Given the description of an element on the screen output the (x, y) to click on. 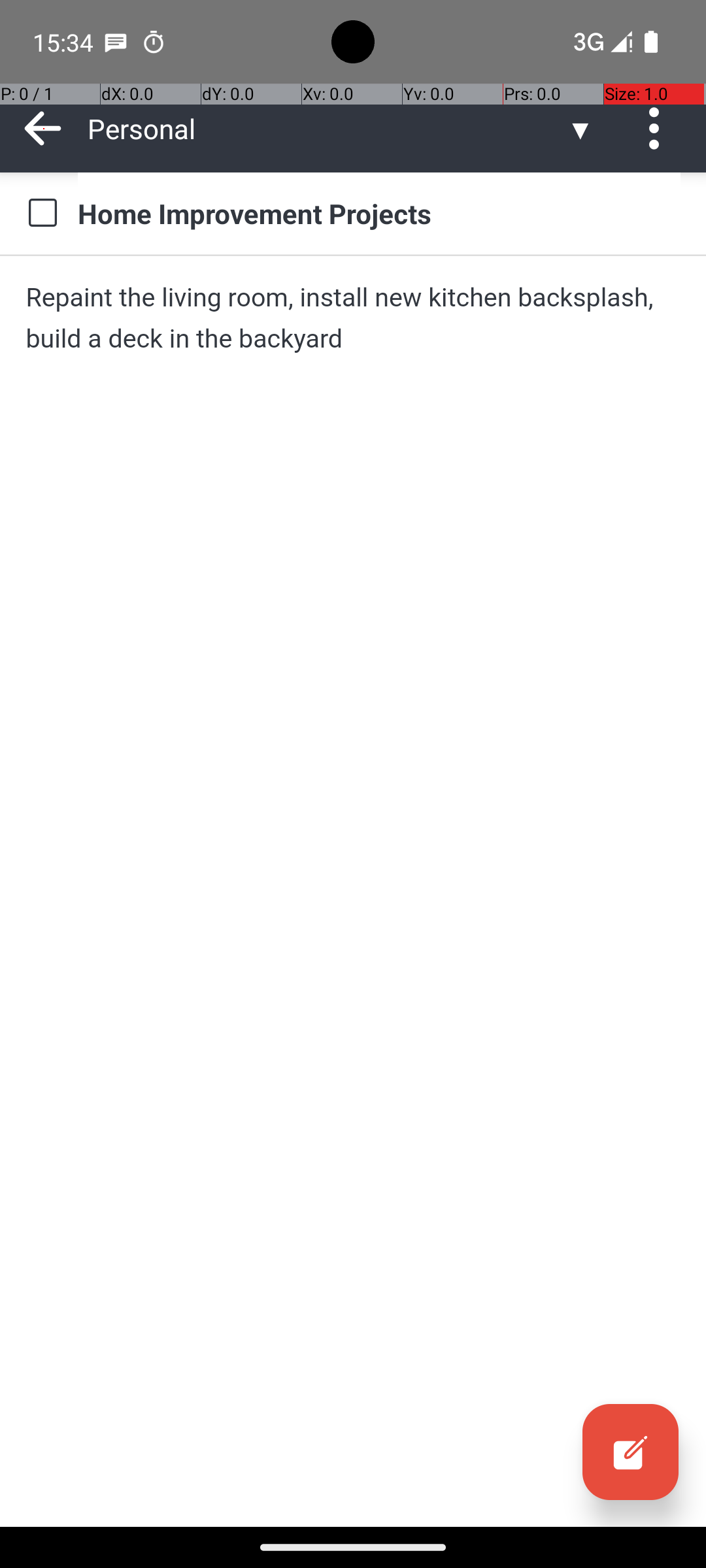
Home Improvement Projects Element type: android.widget.EditText (378, 213)
Repaint the living room, install new kitchen backsplash, build a deck in the backyard Element type: android.widget.TextView (352, 317)
